Given the description of an element on the screen output the (x, y) to click on. 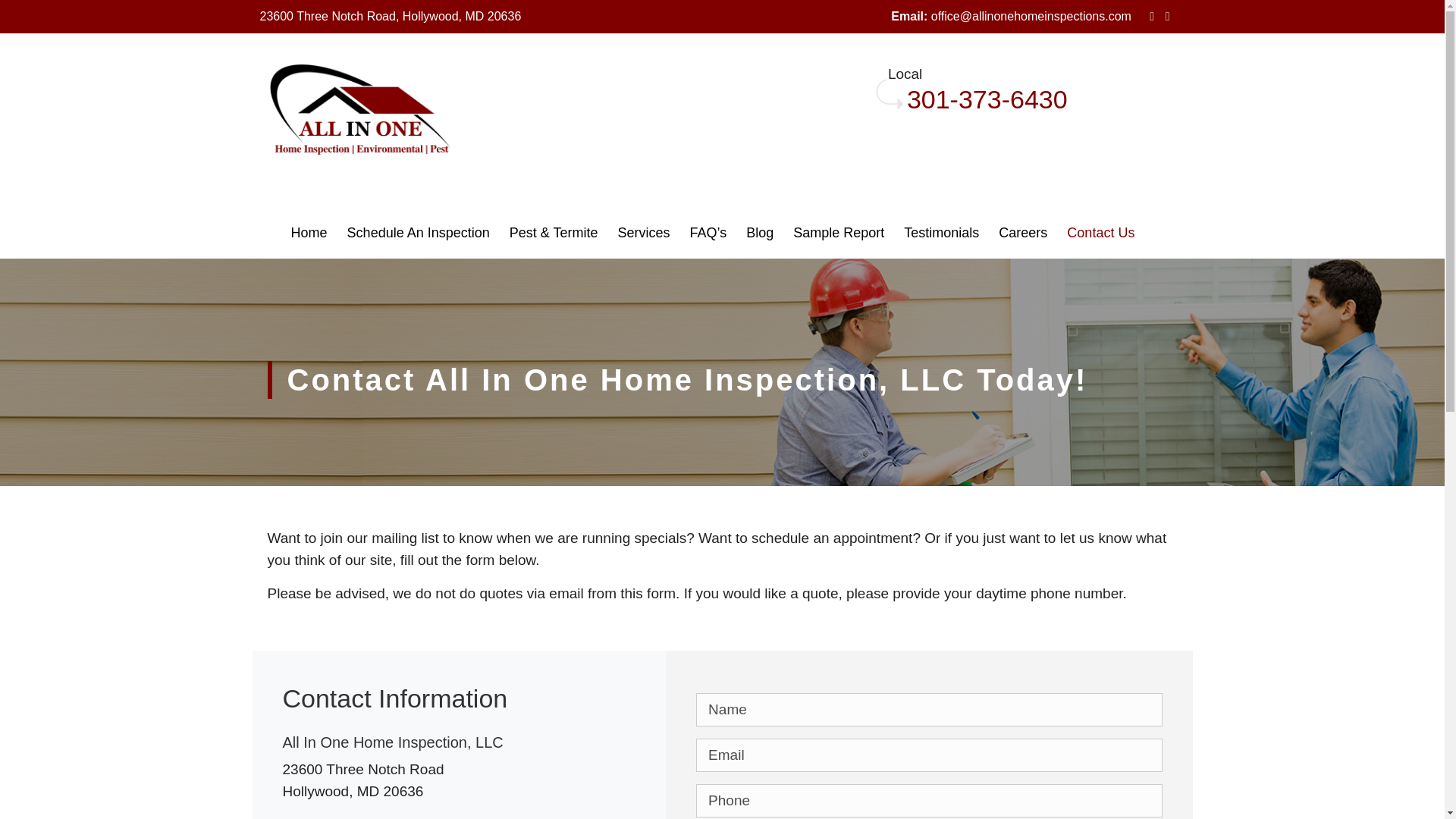
Blog (768, 232)
Careers (1031, 232)
Home (318, 232)
301-373-6430 (987, 99)
Contact Us (1110, 232)
Sample Report (847, 232)
Testimonials (950, 232)
Services (652, 232)
Schedule An Inspection (427, 232)
